Given the description of an element on the screen output the (x, y) to click on. 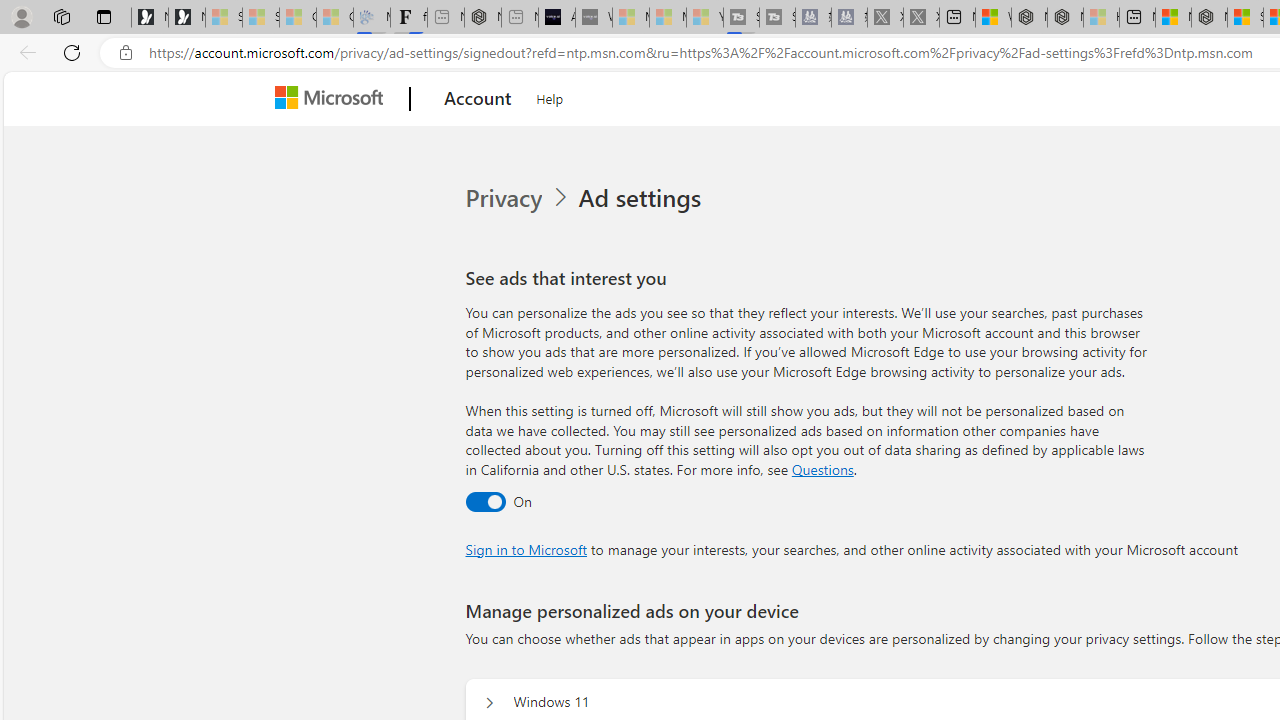
Privacy (505, 197)
Nordace - Nordace Siena Is Not An Ordinary Backpack (1209, 17)
Ad settings toggle (484, 501)
Ad settings (643, 197)
